Given the description of an element on the screen output the (x, y) to click on. 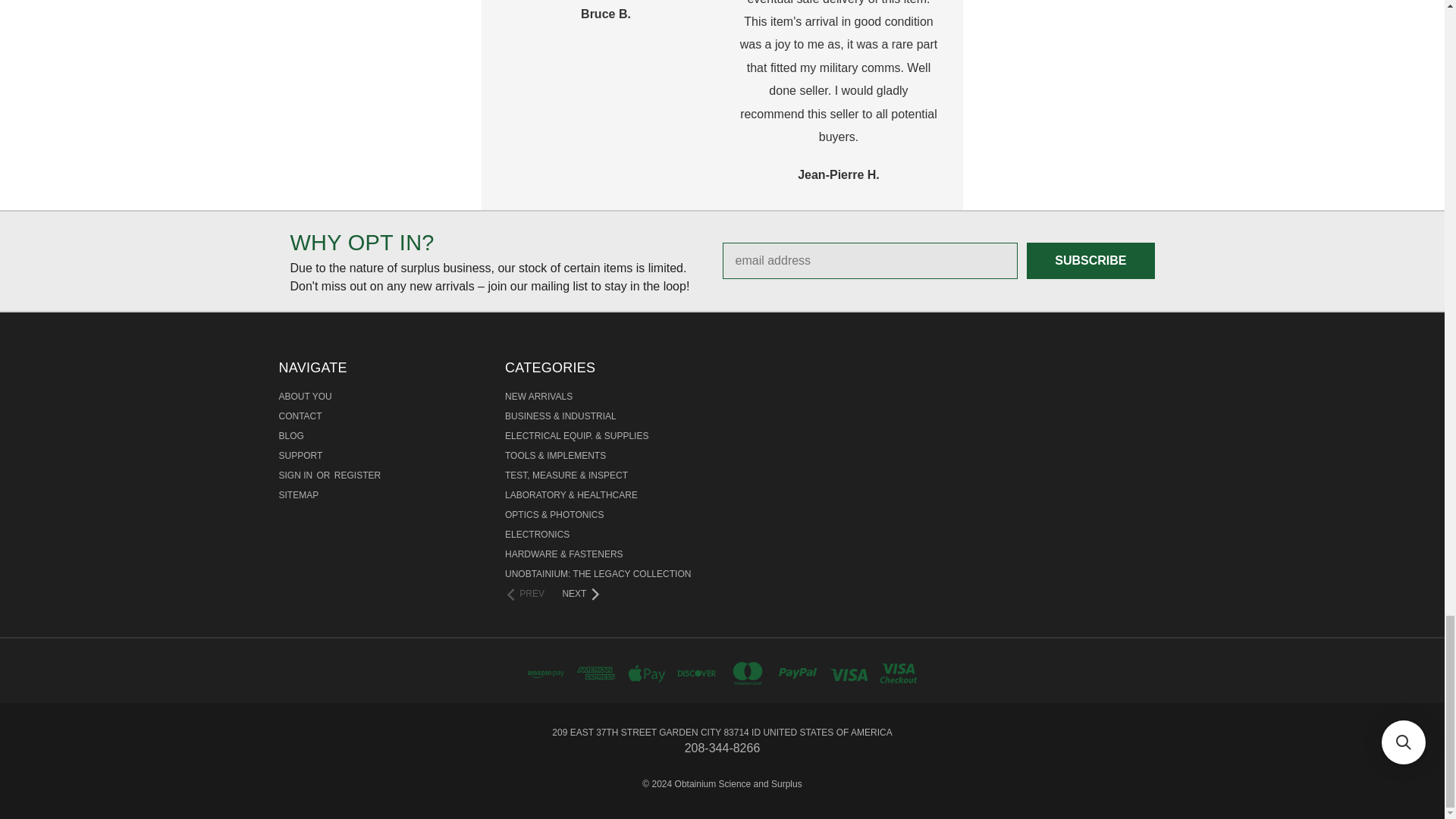
Subscribe (1090, 260)
